Given the description of an element on the screen output the (x, y) to click on. 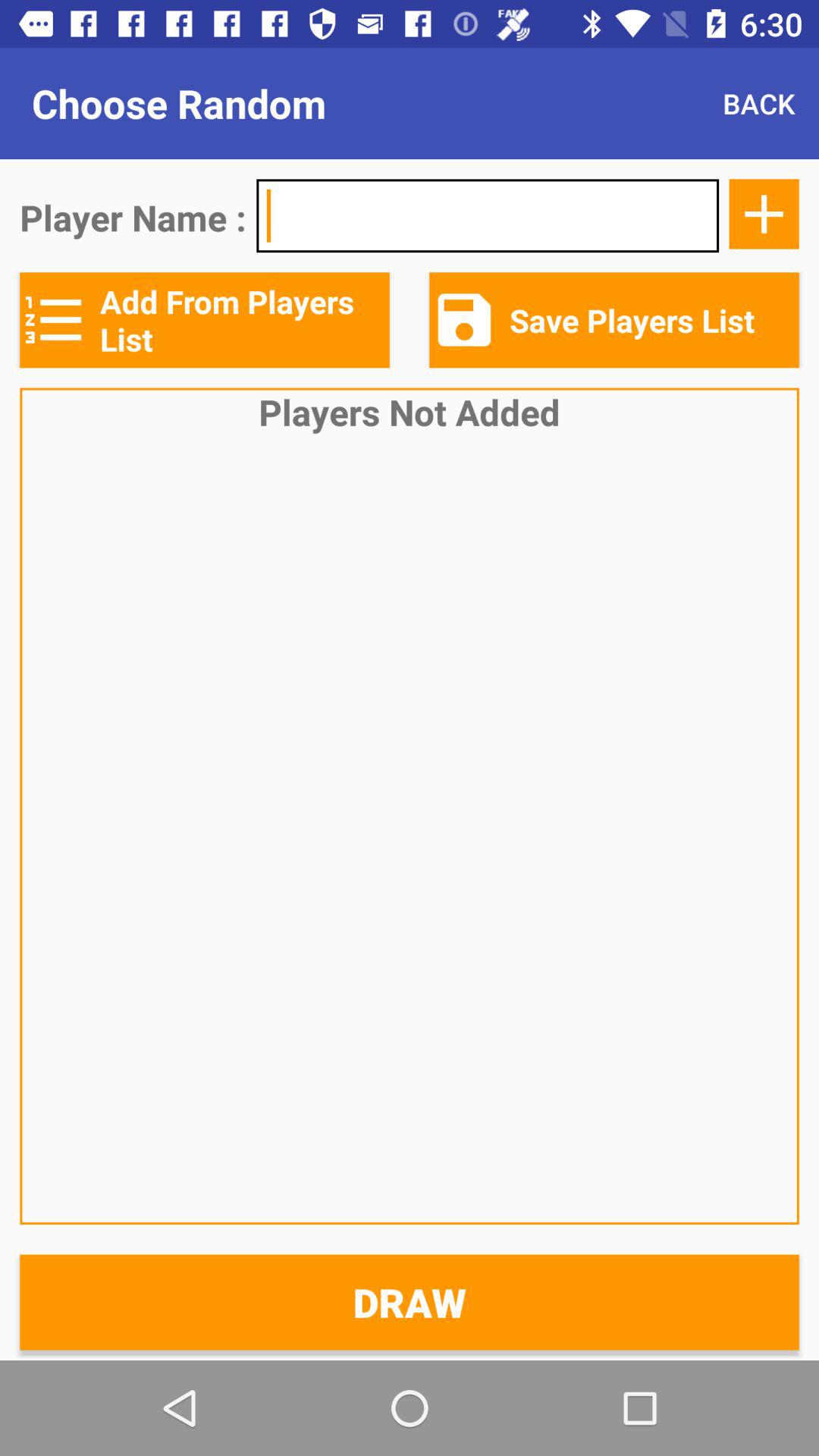
click+ (764, 214)
